Given the description of an element on the screen output the (x, y) to click on. 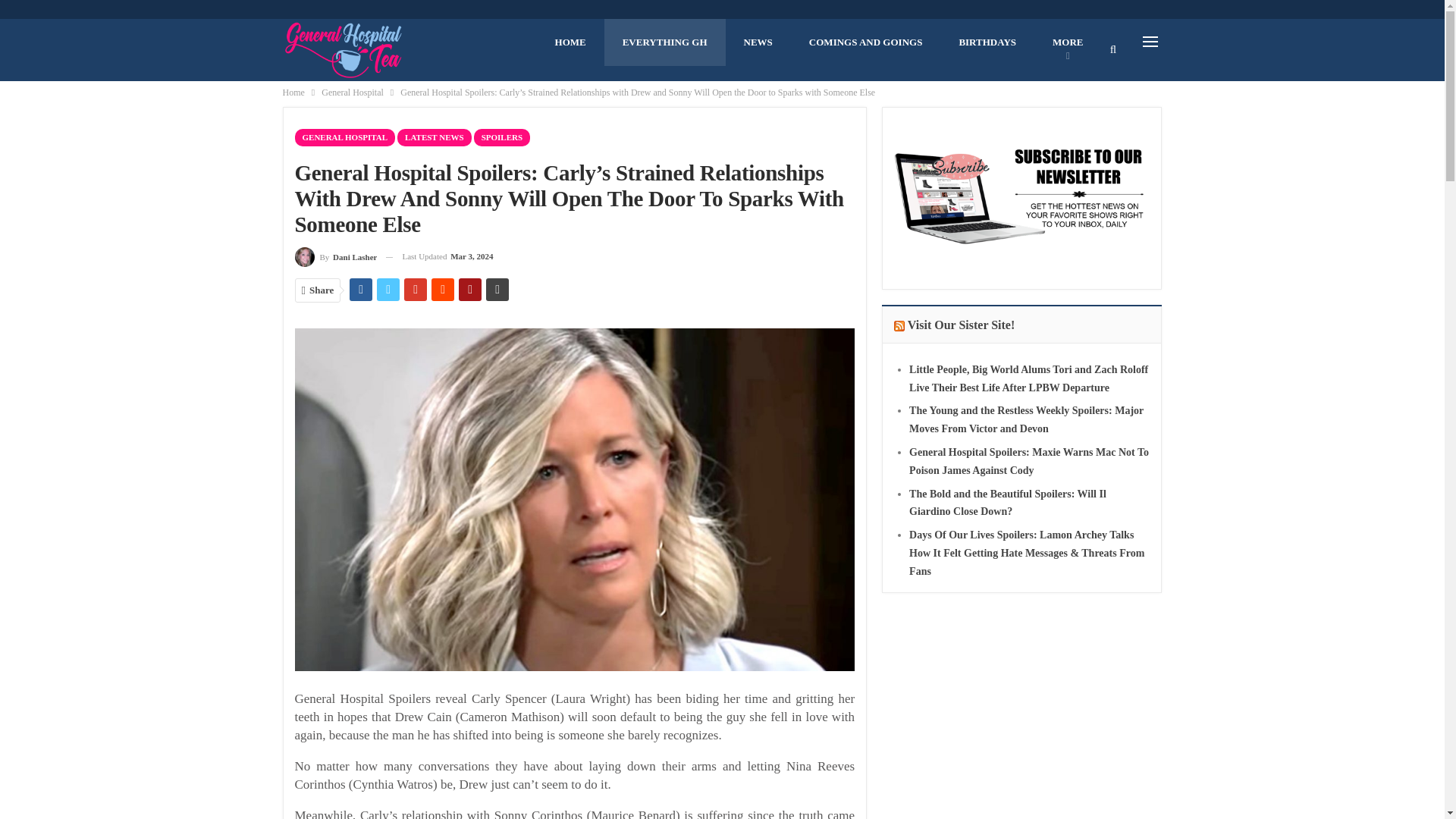
GENERAL HOSPITAL (344, 137)
Browse Author Articles (335, 256)
EVERYTHING GH (664, 42)
By Dani Lasher (335, 256)
BIRTHDAYS (986, 42)
Home (293, 92)
MORE (1066, 42)
COMINGS AND GOINGS (865, 42)
HOME (570, 42)
SPOILERS (501, 137)
NEWS (757, 42)
LATEST NEWS (434, 137)
General Hospital (352, 92)
